Given the description of an element on the screen output the (x, y) to click on. 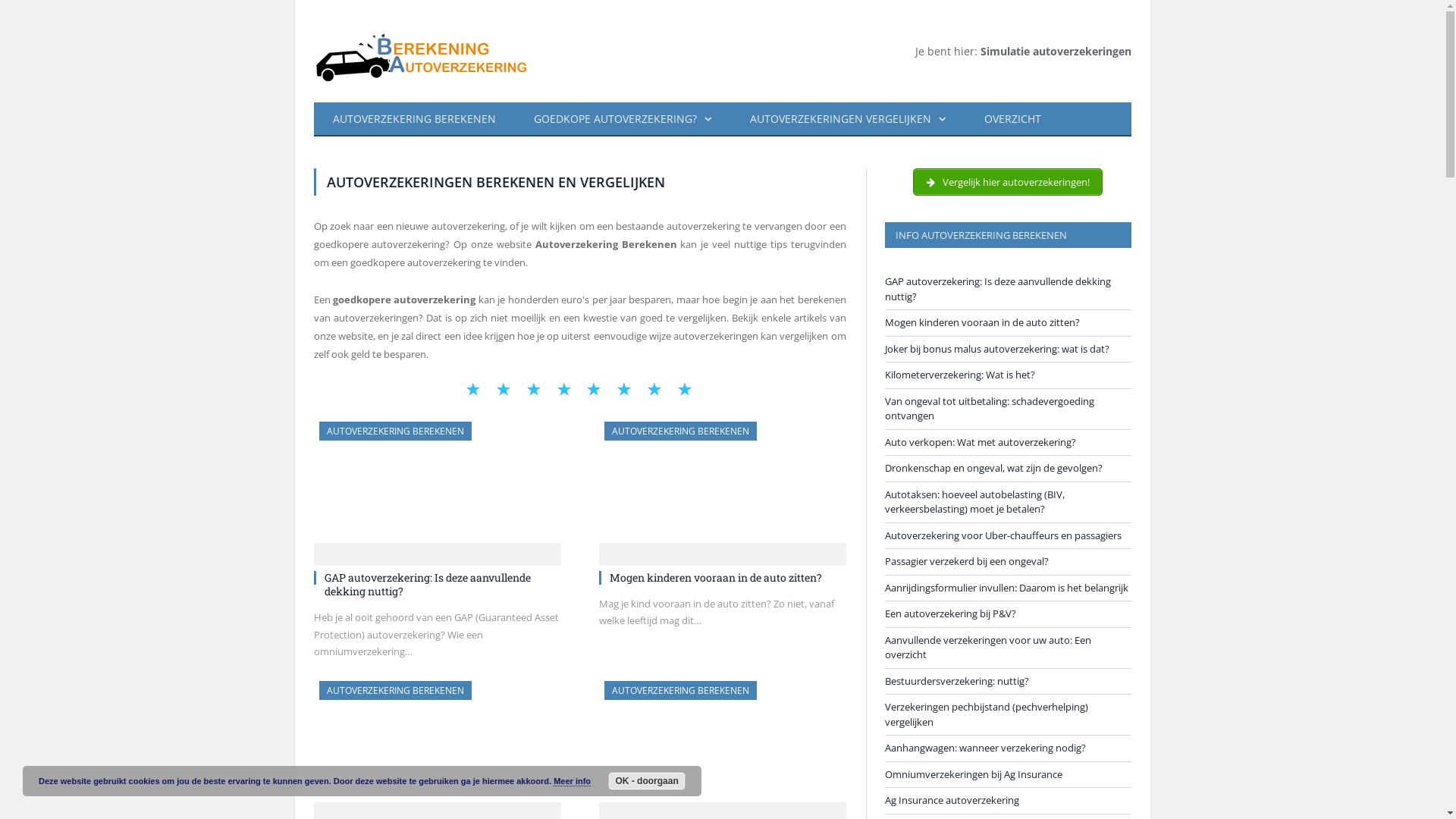
OK - doorgaan Element type: text (646, 780)
Joker bij bonus malus autoverzekering: wat is dat? Element type: text (996, 347)
GAP autoverzekering: Is deze aanvullende dekking nuttig? Element type: hover (437, 486)
AUTOVERZEKERING BEREKENEN Element type: text (394, 690)
AUTOVERZEKERING BEREKENEN Element type: text (413, 119)
Passagier verzekerd bij een ongeval? Element type: text (966, 560)
GAP autoverzekering: Is deze aanvullende dekking nuttig? Element type: text (997, 288)
Vergelijk hier autoverzekeringen! Element type: text (1008, 181)
AUTOVERZEKERING BEREKENEN Element type: text (394, 430)
Autoverzekering voor Uber-chauffeurs en passagiers Element type: text (1002, 534)
Kilometerverzekering: Wat is het? Element type: text (959, 374)
Autoverzekering berekenen Element type: hover (427, 50)
GOEDKOPE AUTOVERZEKERING? Element type: text (622, 119)
Bestuurdersverzekering: nuttig? Element type: text (956, 680)
Meer info Element type: text (571, 781)
AUTOVERZEKERING BEREKENEN Element type: text (679, 690)
Ag Insurance autoverzekering Element type: text (951, 799)
Mogen kinderen vooraan in de auto zitten? Element type: text (715, 577)
Van ongeval tot uitbetaling: schadevergoeding ontvangen Element type: text (988, 408)
Mogen kinderen vooraan in de auto zitten? Element type: text (981, 322)
Kilometerverzekering: Wat is het? Element type: hover (722, 745)
Joker bij bonus malus autoverzekering: wat is dat? Element type: hover (437, 745)
Aanvullende verzekeringen voor uw auto: Een overzicht Element type: text (987, 646)
Een autoverzekering bij P&V? Element type: text (949, 613)
GAP autoverzekering: Is deze aanvullende dekking nuttig? Element type: text (427, 584)
OVERZICHT Element type: text (1011, 119)
Mogen kinderen vooraan in de auto zitten? Element type: hover (722, 486)
AUTOVERZEKERING BEREKENEN Element type: text (679, 430)
Aanhangwagen: wanneer verzekering nodig? Element type: text (984, 747)
Auto verkopen: Wat met autoverzekering? Element type: text (979, 441)
AUTOVERZEKERINGEN VERGELIJKEN Element type: text (848, 119)
Omniumverzekeringen bij Ag Insurance Element type: text (972, 774)
Aanrijdingsformulier invullen: Daarom is het belangrijk Element type: text (1005, 587)
Dronkenschap en ongeval, wat zijn de gevolgen? Element type: text (992, 467)
Verzekeringen pechbijstand (pechverhelping) vergelijken Element type: text (985, 713)
